Given the description of an element on the screen output the (x, y) to click on. 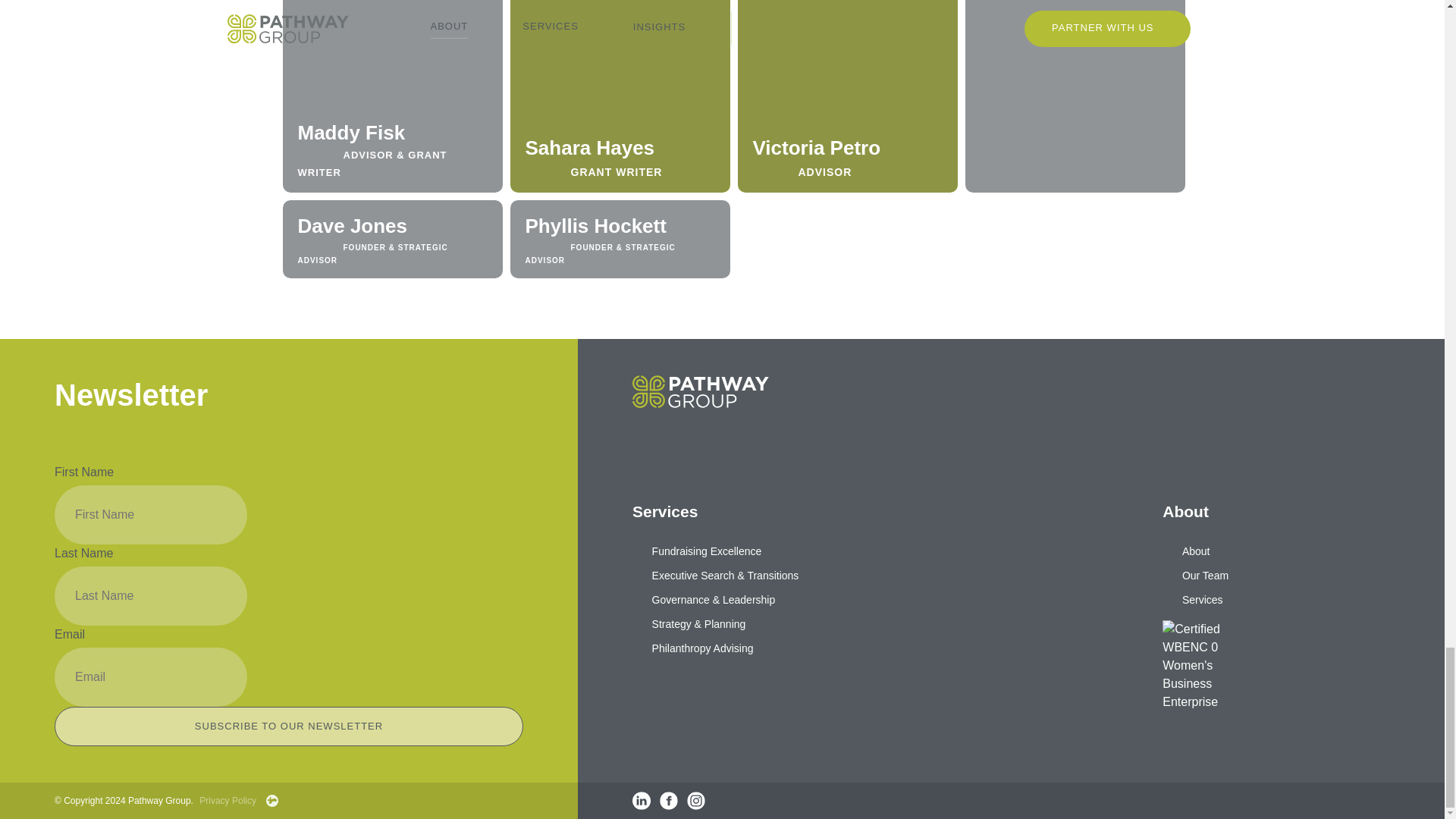
Pathway Group (1010, 409)
site by Spigot (272, 800)
SUBSCRIBE TO OUR NEWSLETTER (288, 726)
